Given the description of an element on the screen output the (x, y) to click on. 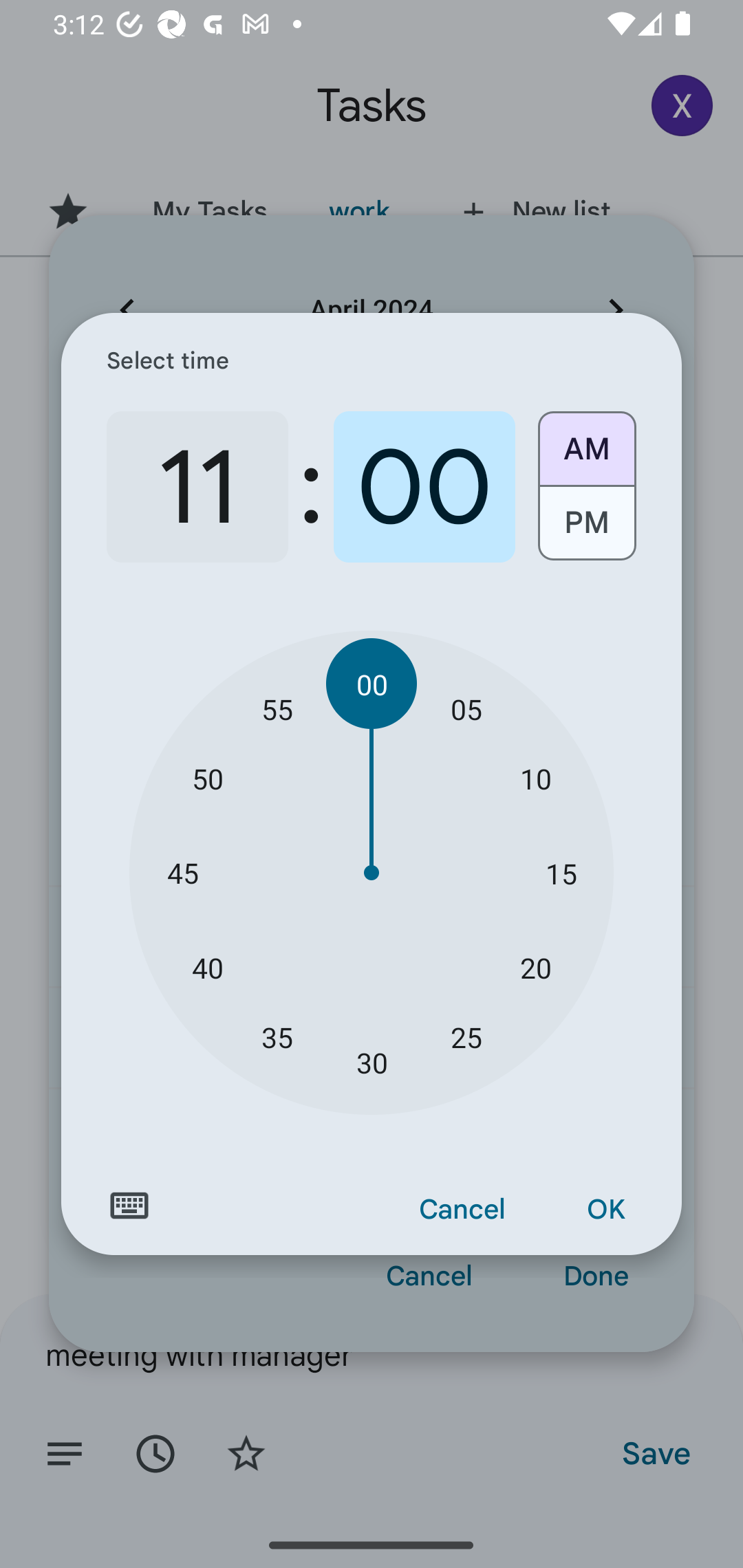
AM (586, 441)
11 11 o'clock (197, 486)
00 0 minutes (424, 486)
PM (586, 529)
00 00 minutes (371, 683)
55 55 minutes (276, 708)
05 05 minutes (466, 708)
50 50 minutes (207, 778)
10 10 minutes (535, 778)
45 45 minutes (182, 872)
15 15 minutes (561, 872)
40 40 minutes (207, 966)
20 20 minutes (535, 966)
35 35 minutes (276, 1035)
25 25 minutes (466, 1035)
30 30 minutes (371, 1062)
Switch to text input mode for the time input. (128, 1205)
Cancel (462, 1209)
OK (605, 1209)
